Given the description of an element on the screen output the (x, y) to click on. 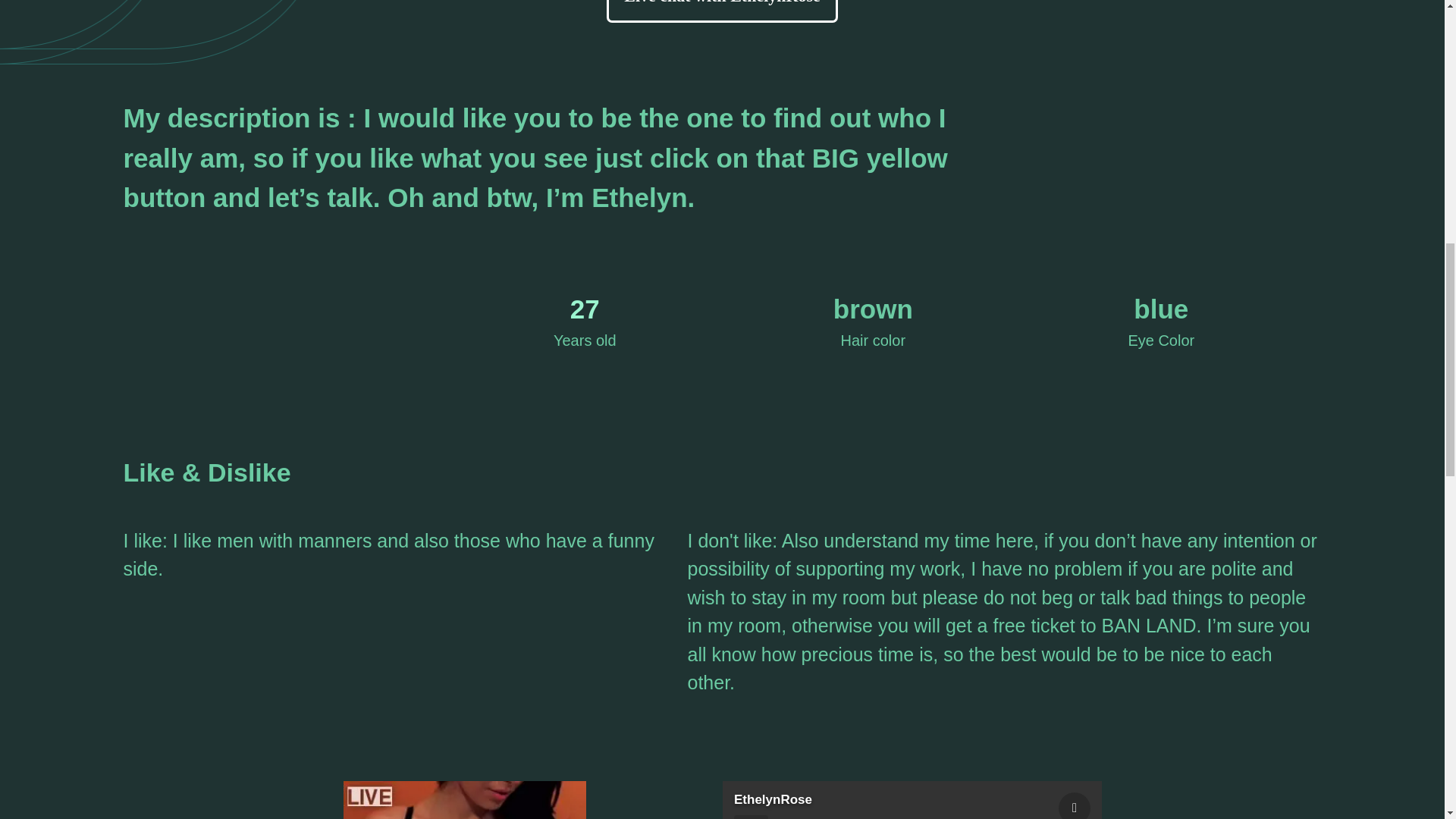
Live chat with EthelynRose (722, 11)
